Given the description of an element on the screen output the (x, y) to click on. 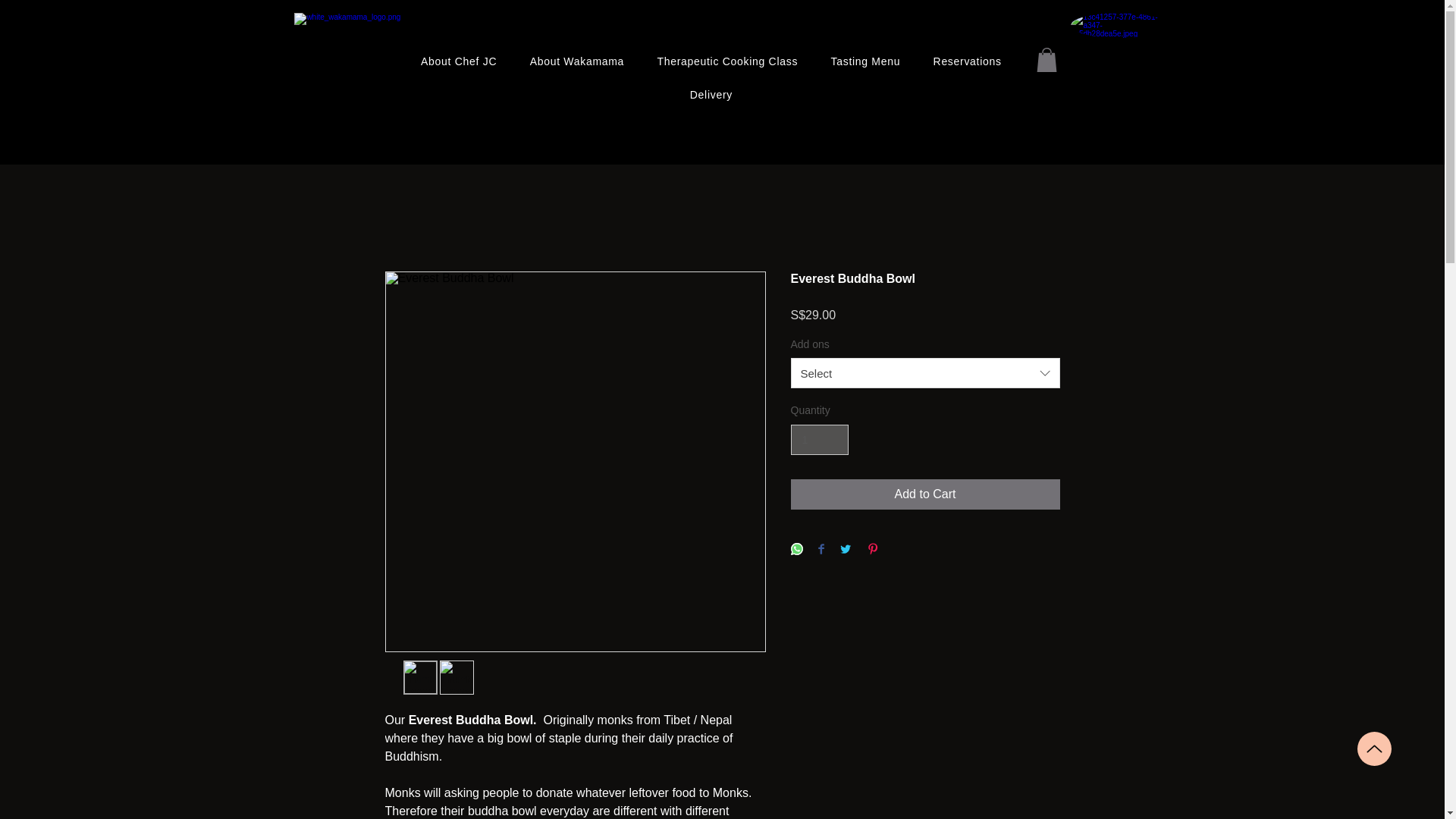
Add to Cart (924, 494)
Tasting Menu (865, 61)
1 (818, 440)
About Chef JC (459, 61)
Select (924, 372)
Reservations (967, 61)
Therapeutic Cooking Class (726, 61)
